Given the description of an element on the screen output the (x, y) to click on. 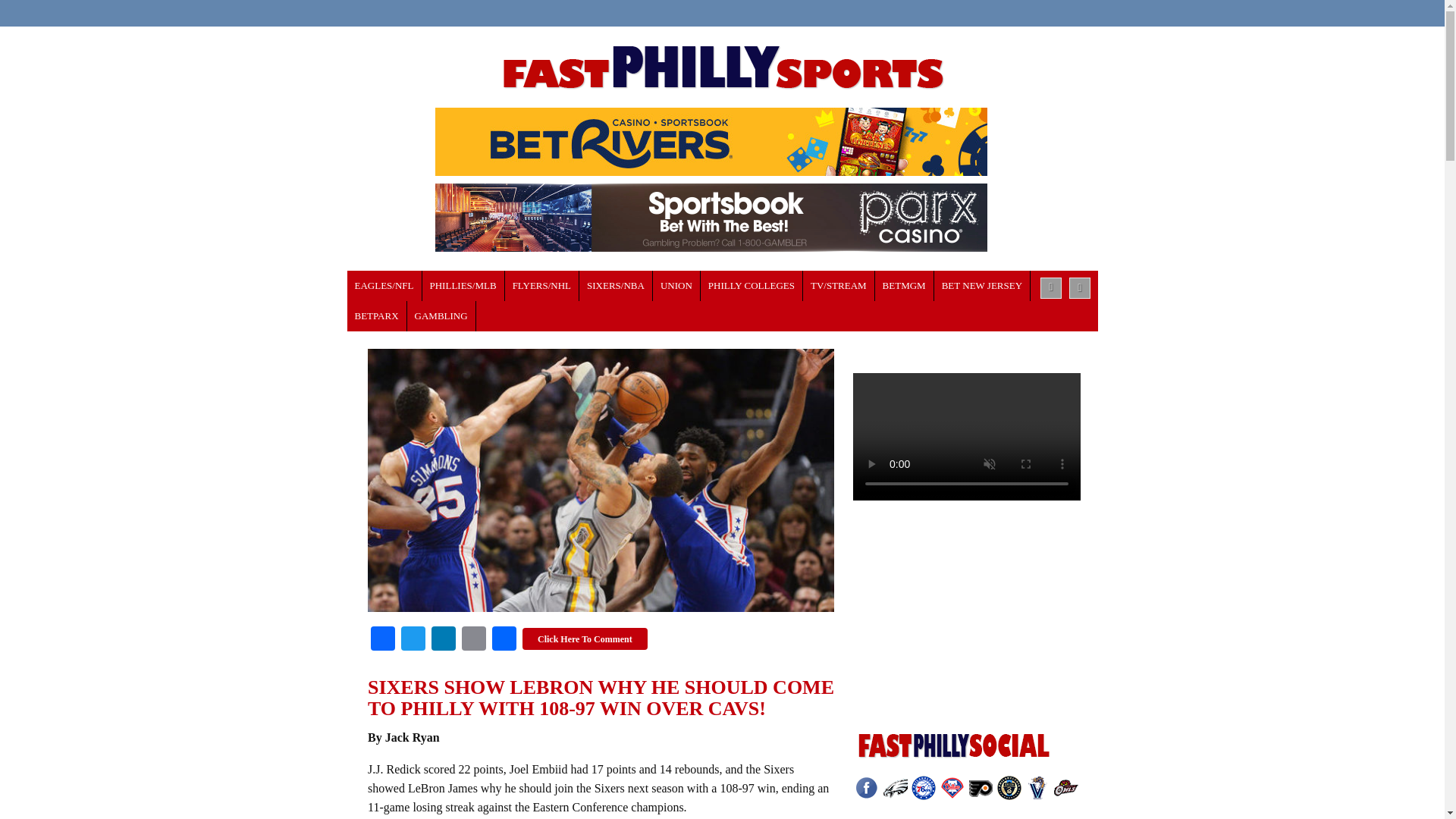
Share (504, 640)
GAMBLING (441, 316)
LA SALLE (751, 286)
Email (473, 640)
Facebook (382, 640)
Facebook (382, 640)
BETMGM (904, 286)
Twitter (412, 640)
Click Here To Comment (584, 639)
Twitter (412, 640)
LinkedIn (443, 640)
LinkedIn (443, 640)
Email (473, 640)
PHILLY COLLEGES (751, 286)
Random Article (1079, 287)
